Given the description of an element on the screen output the (x, y) to click on. 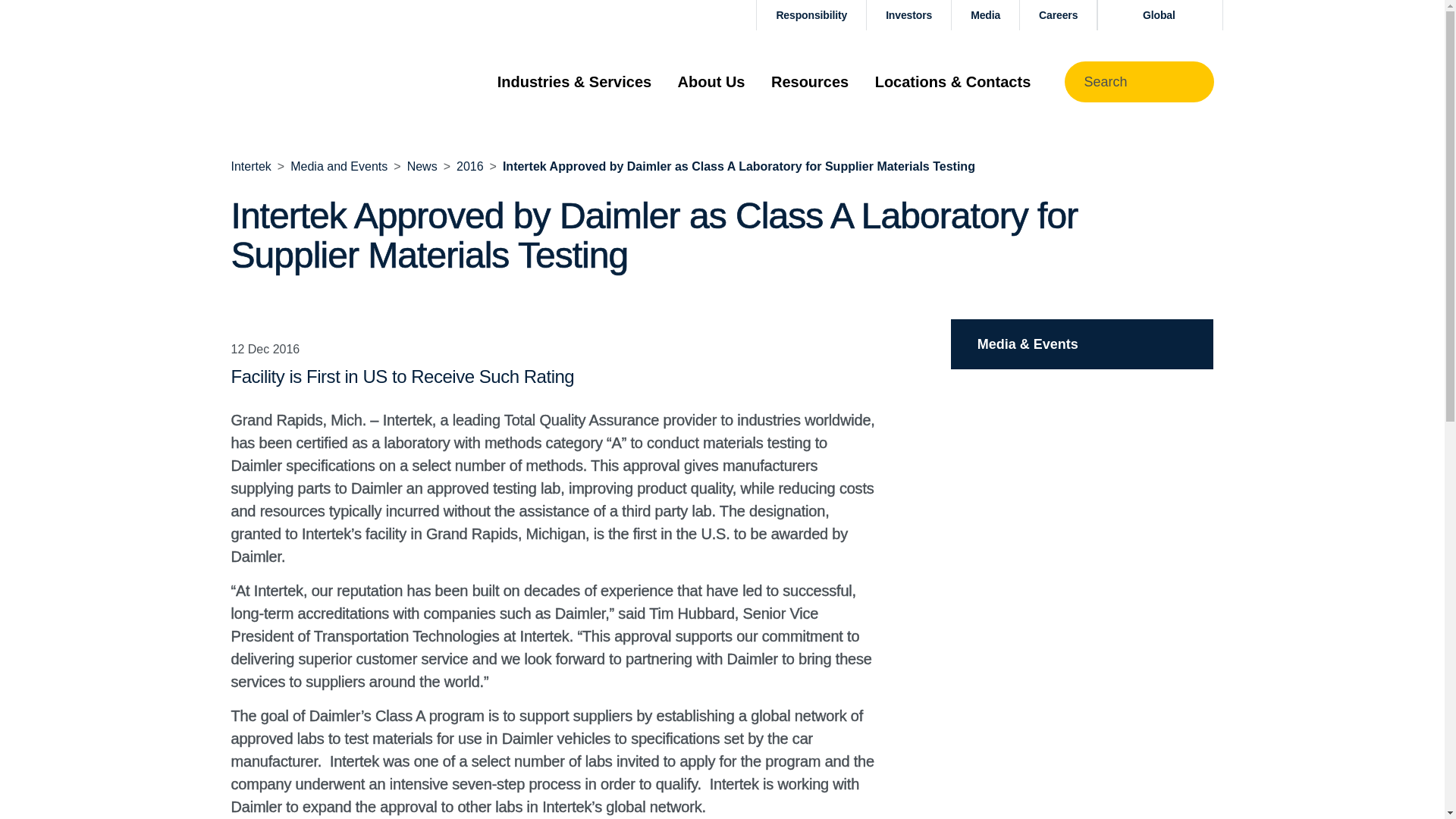
2016 (470, 165)
Intertek (250, 165)
Intertek Intertek Brand Logo (304, 81)
News (422, 165)
Intertek Intertek Brand Logo (304, 81)
